Given the description of an element on the screen output the (x, y) to click on. 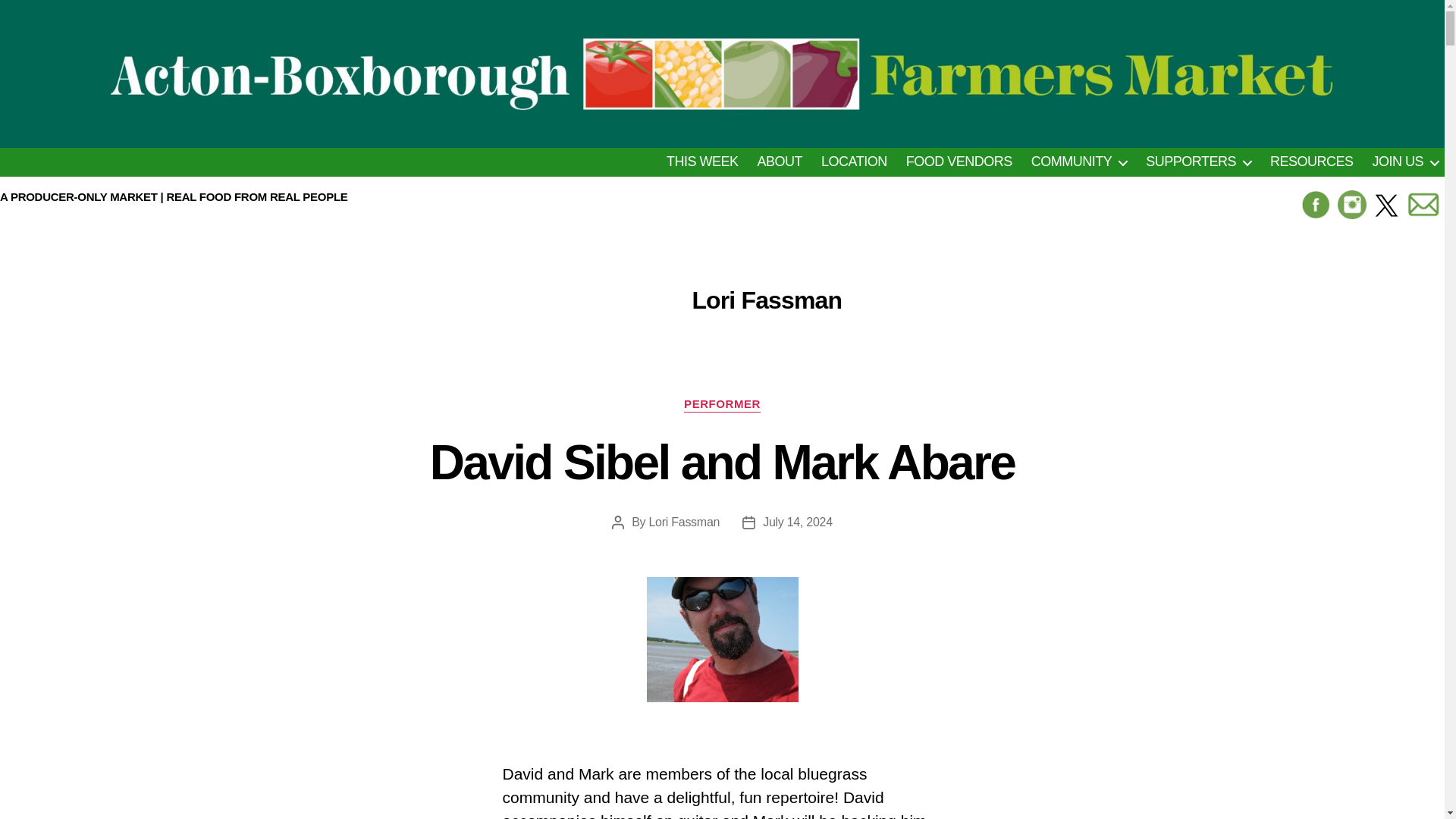
THIS WEEK (702, 161)
RESOURCES (1311, 161)
JOIN US (1404, 161)
COMMUNITY (1078, 161)
ABOUT (779, 161)
LOCATION (853, 161)
FOOD VENDORS (958, 161)
SUPPORTERS (1197, 161)
